Given the description of an element on the screen output the (x, y) to click on. 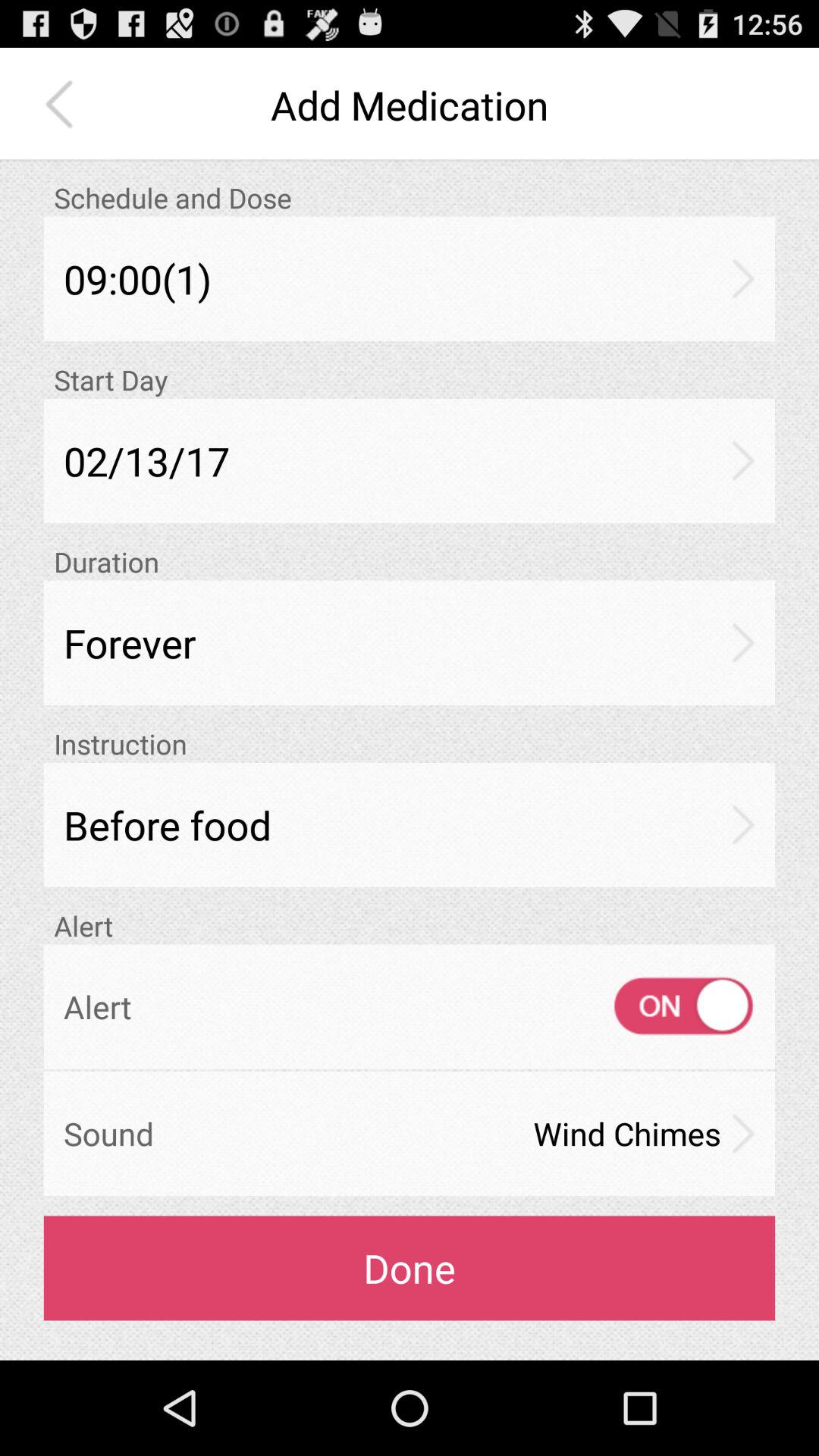
select the item to the right of alert item (670, 1006)
